Given the description of an element on the screen output the (x, y) to click on. 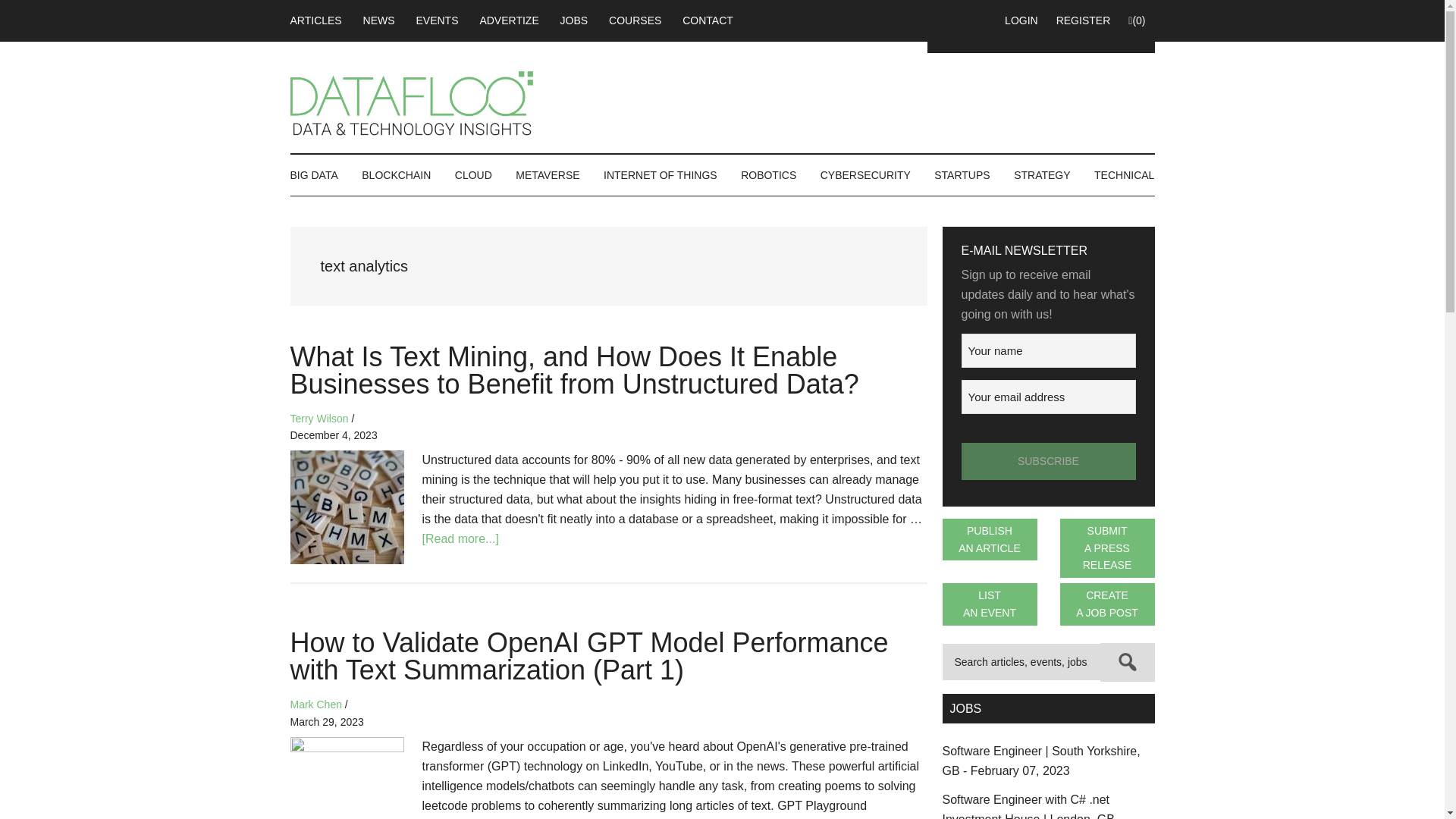
ARTICLES (319, 20)
ADVERTIZE (508, 20)
METAVERSE (547, 174)
Software Engineer (1041, 760)
COURSES (634, 20)
REGISTER (1082, 20)
RSS (954, 19)
EVENTS (436, 20)
NEWS (378, 20)
FACEBOOK (896, 19)
